Given the description of an element on the screen output the (x, y) to click on. 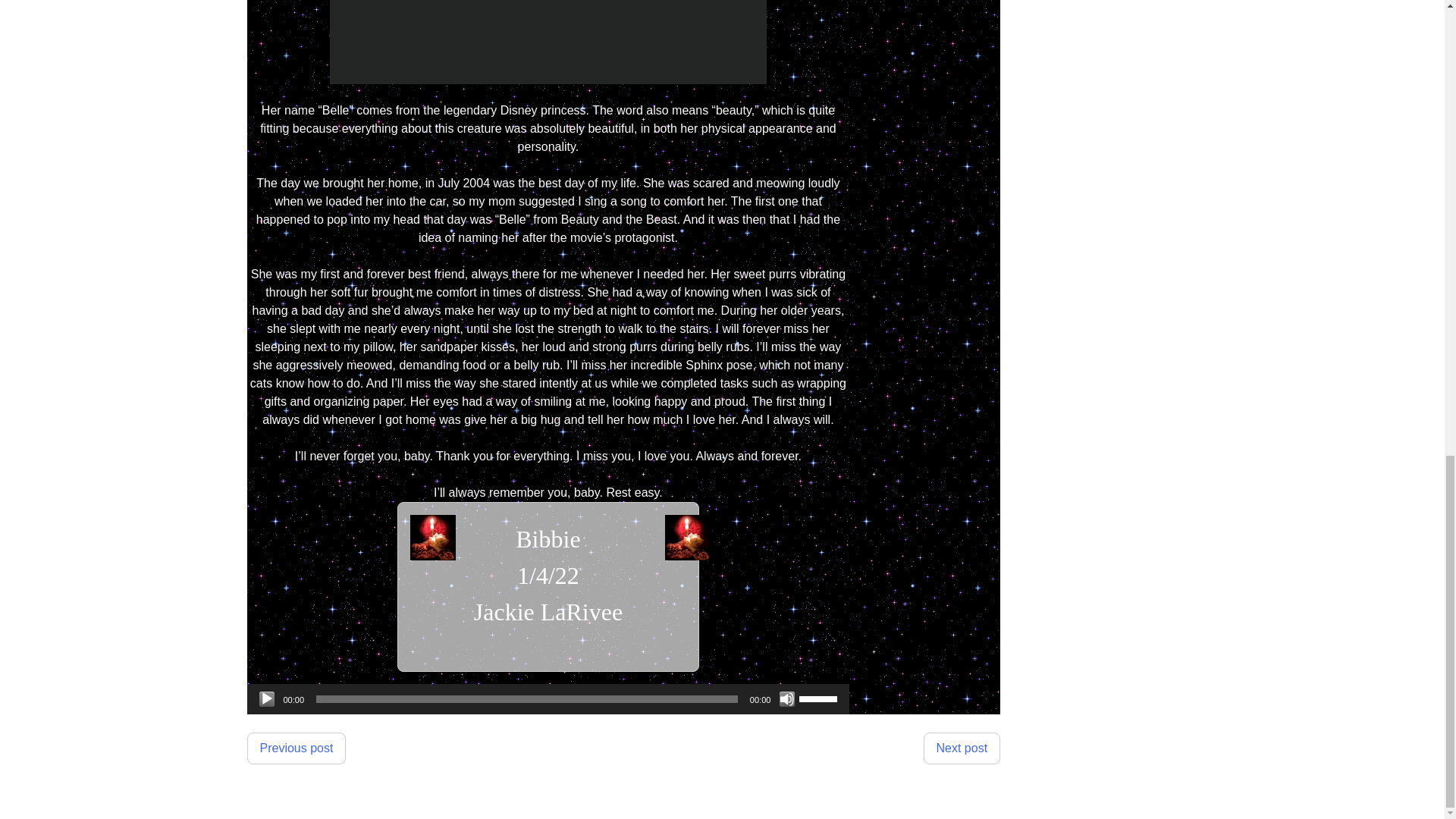
Next post (962, 748)
Mute (786, 698)
Play (267, 698)
Previous post (296, 748)
